Given the description of an element on the screen output the (x, y) to click on. 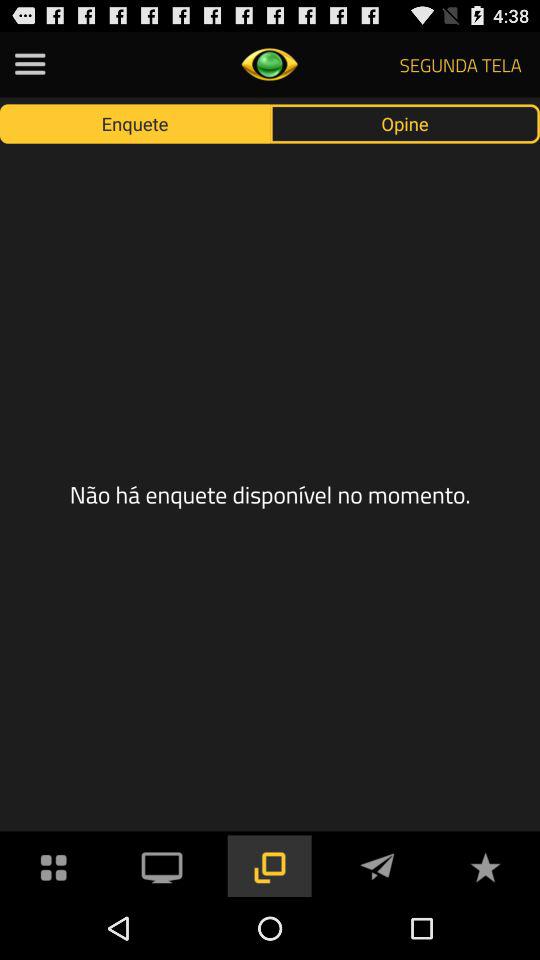
go to main page (54, 865)
